Given the description of an element on the screen output the (x, y) to click on. 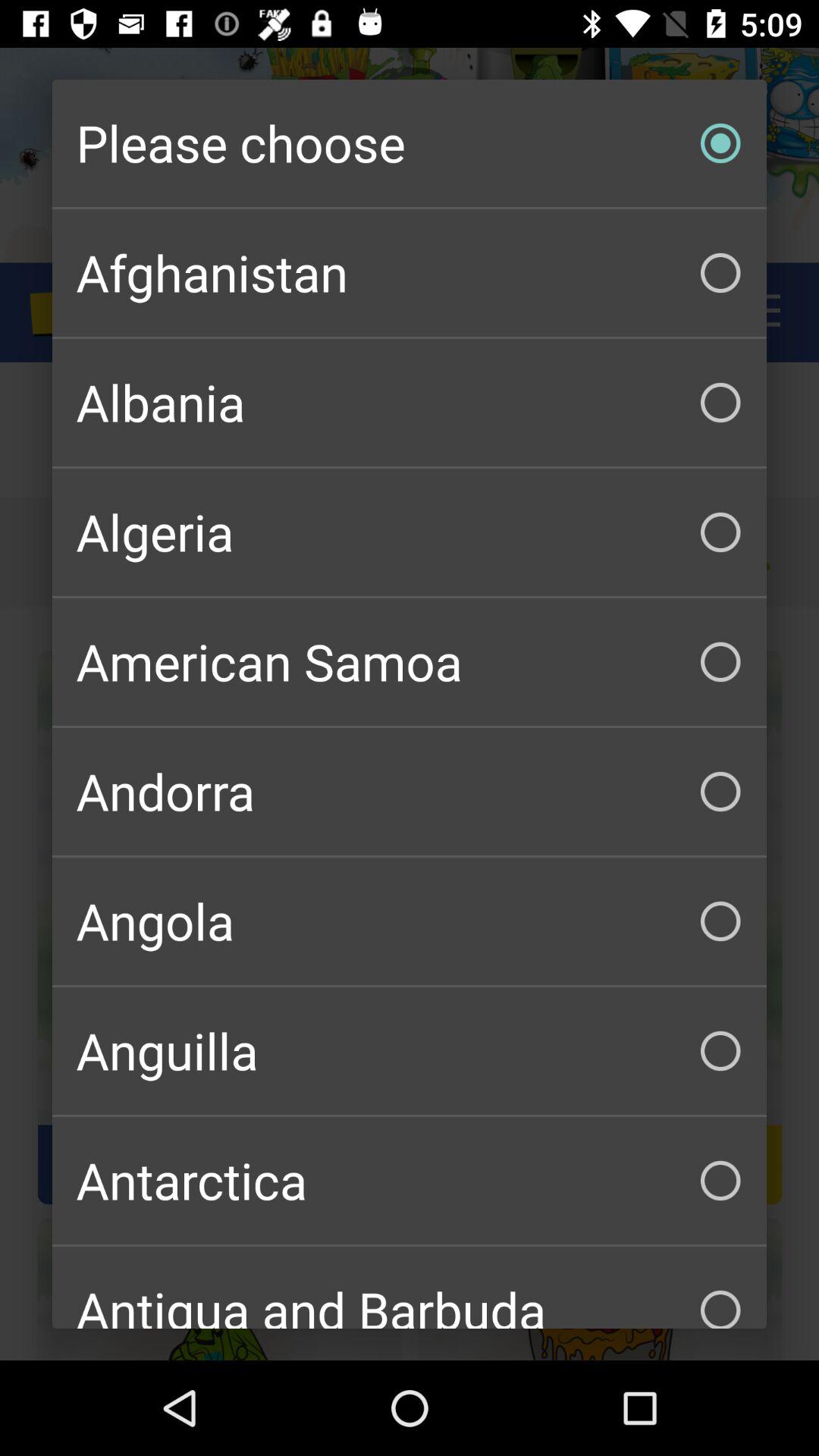
turn on the icon above angola (409, 791)
